Given the description of an element on the screen output the (x, y) to click on. 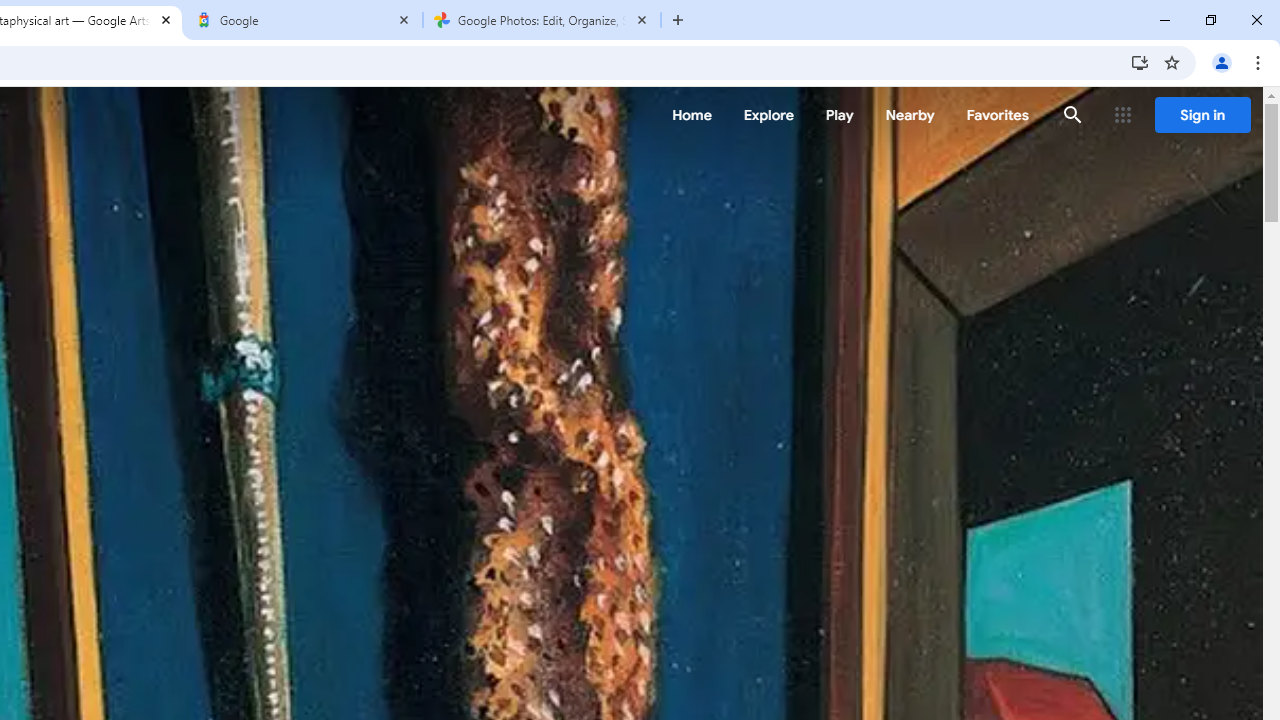
Favorites (996, 115)
Nearby (910, 115)
Explore (768, 115)
Install Google Arts & Culture (1139, 62)
Google (304, 20)
Home (691, 115)
